Given the description of an element on the screen output the (x, y) to click on. 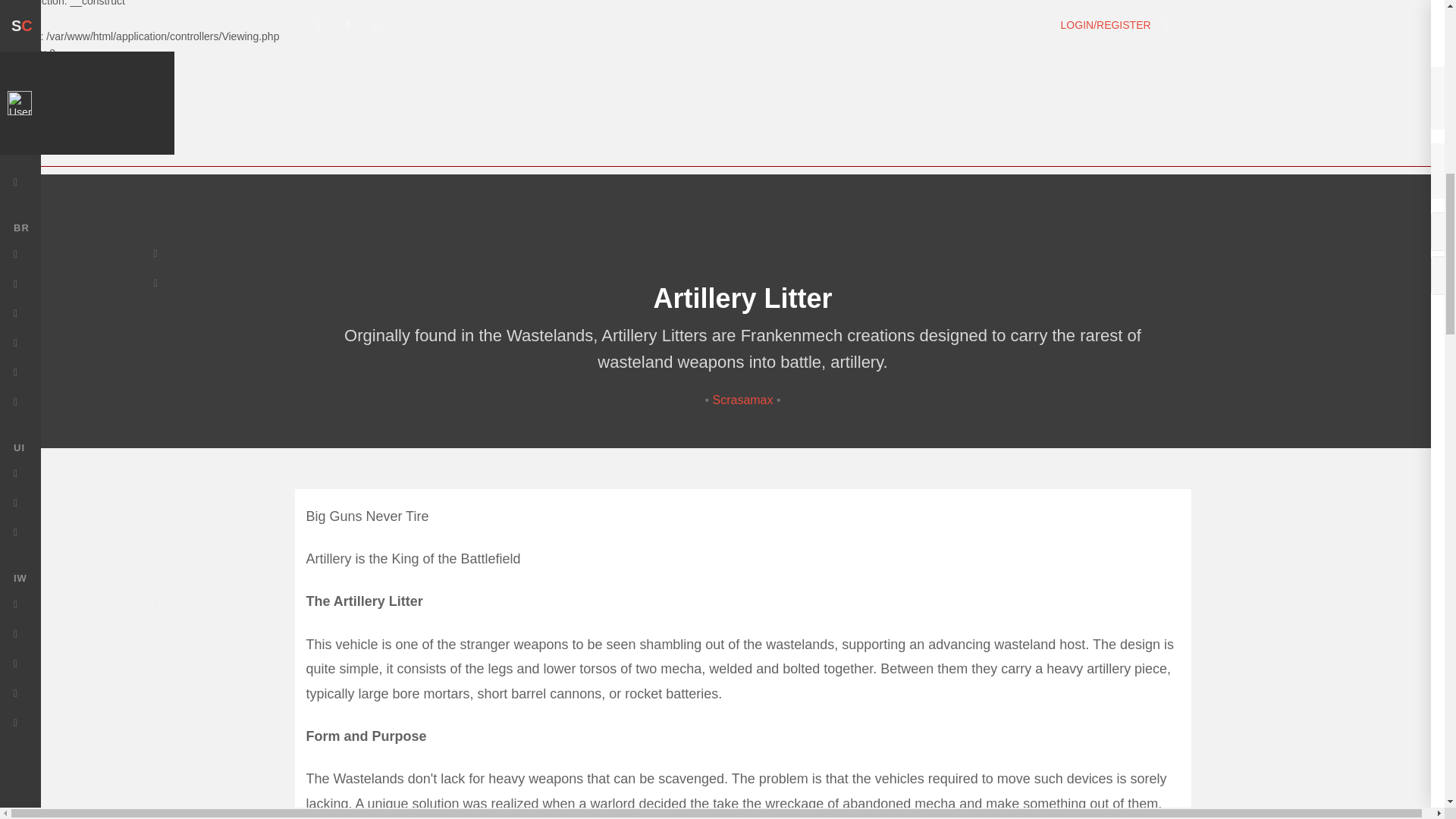
Scrasamax (743, 399)
